Given the description of an element on the screen output the (x, y) to click on. 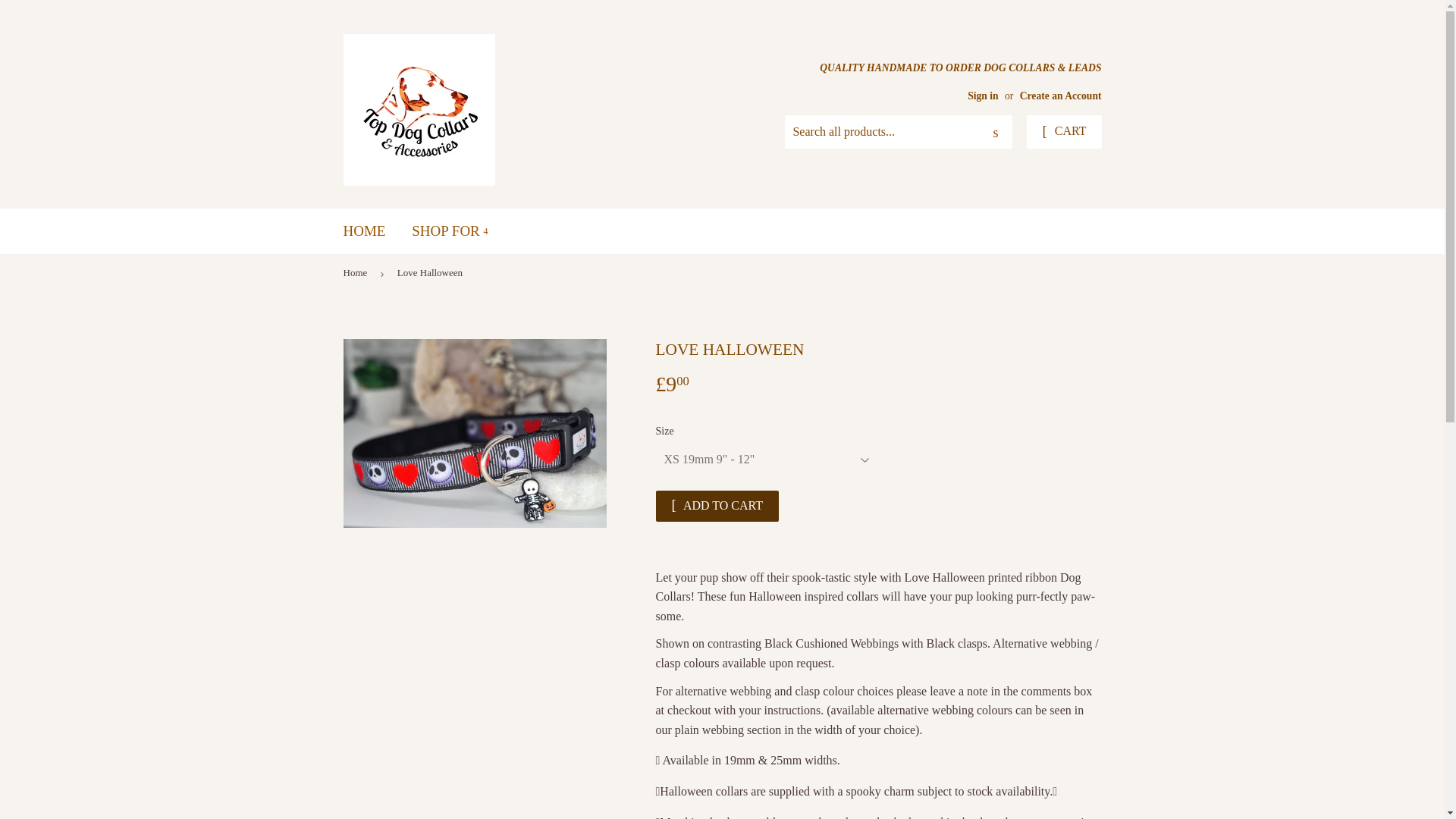
SHOP FOR (449, 230)
Sign in (982, 94)
HOME (364, 230)
CART (1063, 131)
Search (994, 132)
ADD TO CART (716, 505)
Create an Account (1061, 94)
